Given the description of an element on the screen output the (x, y) to click on. 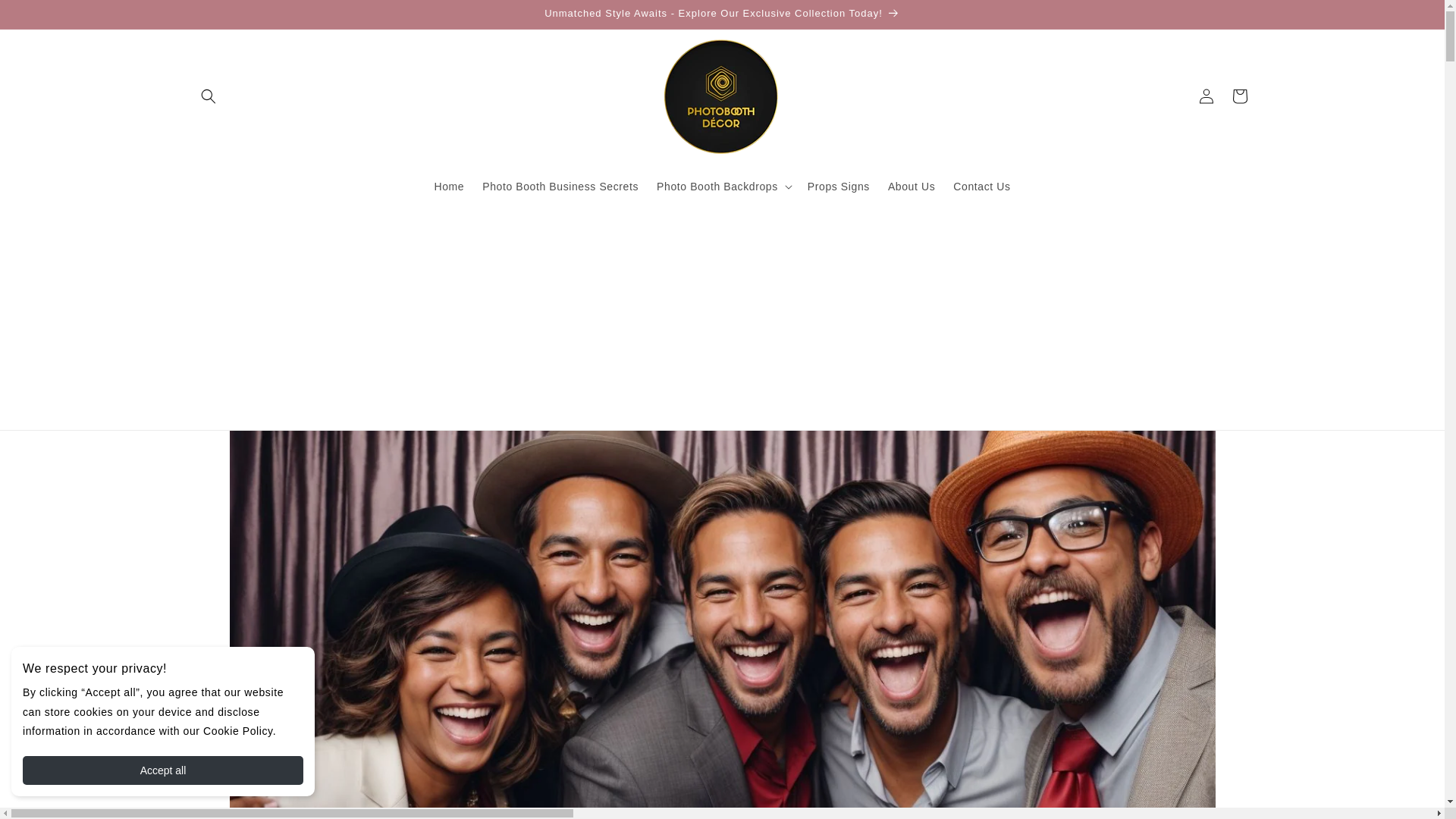
Skip to content (45, 16)
Accept all (162, 769)
